Given the description of an element on the screen output the (x, y) to click on. 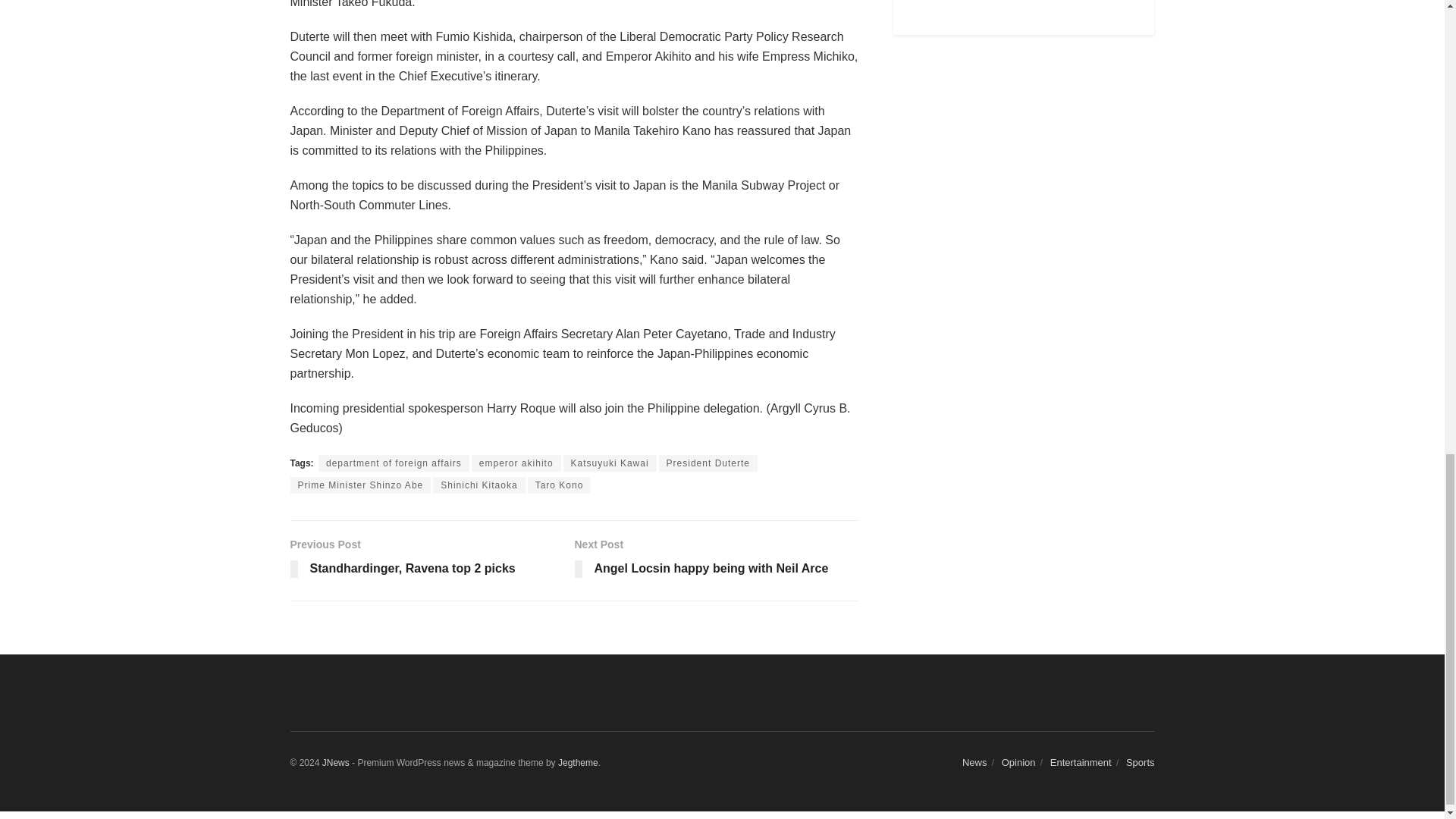
Katsuyuki Kawai (431, 560)
President Duterte (609, 463)
Shinichi Kitaoka (708, 463)
Prime Minister Shinzo Abe (478, 484)
Jegtheme (359, 484)
Taro Kono (717, 560)
emperor akihito (577, 761)
department of foreign affairs (559, 484)
